Given the description of an element on the screen output the (x, y) to click on. 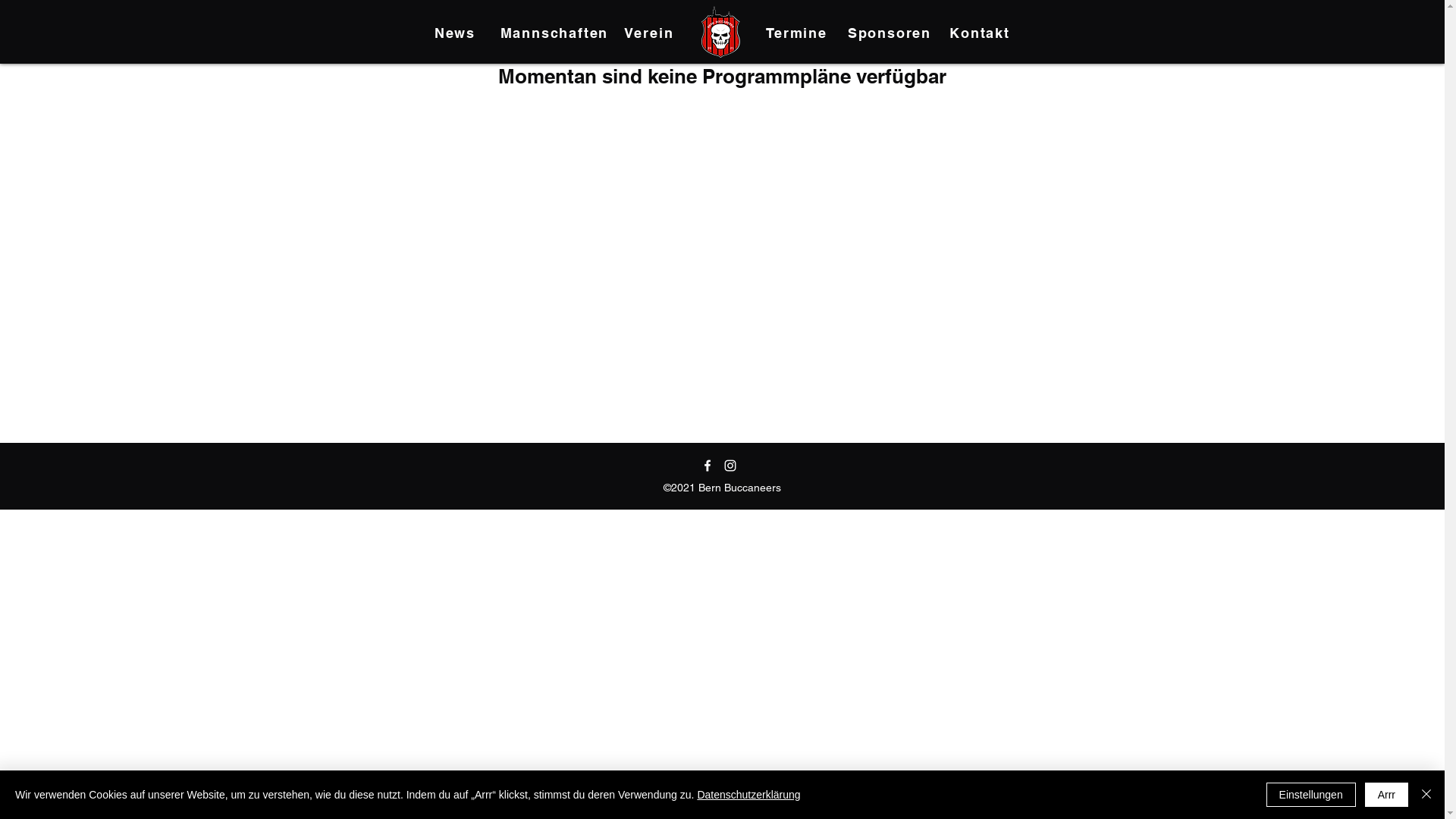
Arrr Element type: text (1386, 794)
Einstellungen Element type: text (1310, 794)
Verein Element type: text (650, 32)
Termine Element type: text (797, 32)
Sponsoren Element type: text (890, 32)
News Element type: text (456, 32)
Kontakt Element type: text (980, 32)
Mannschaften Element type: text (554, 32)
